Given the description of an element on the screen output the (x, y) to click on. 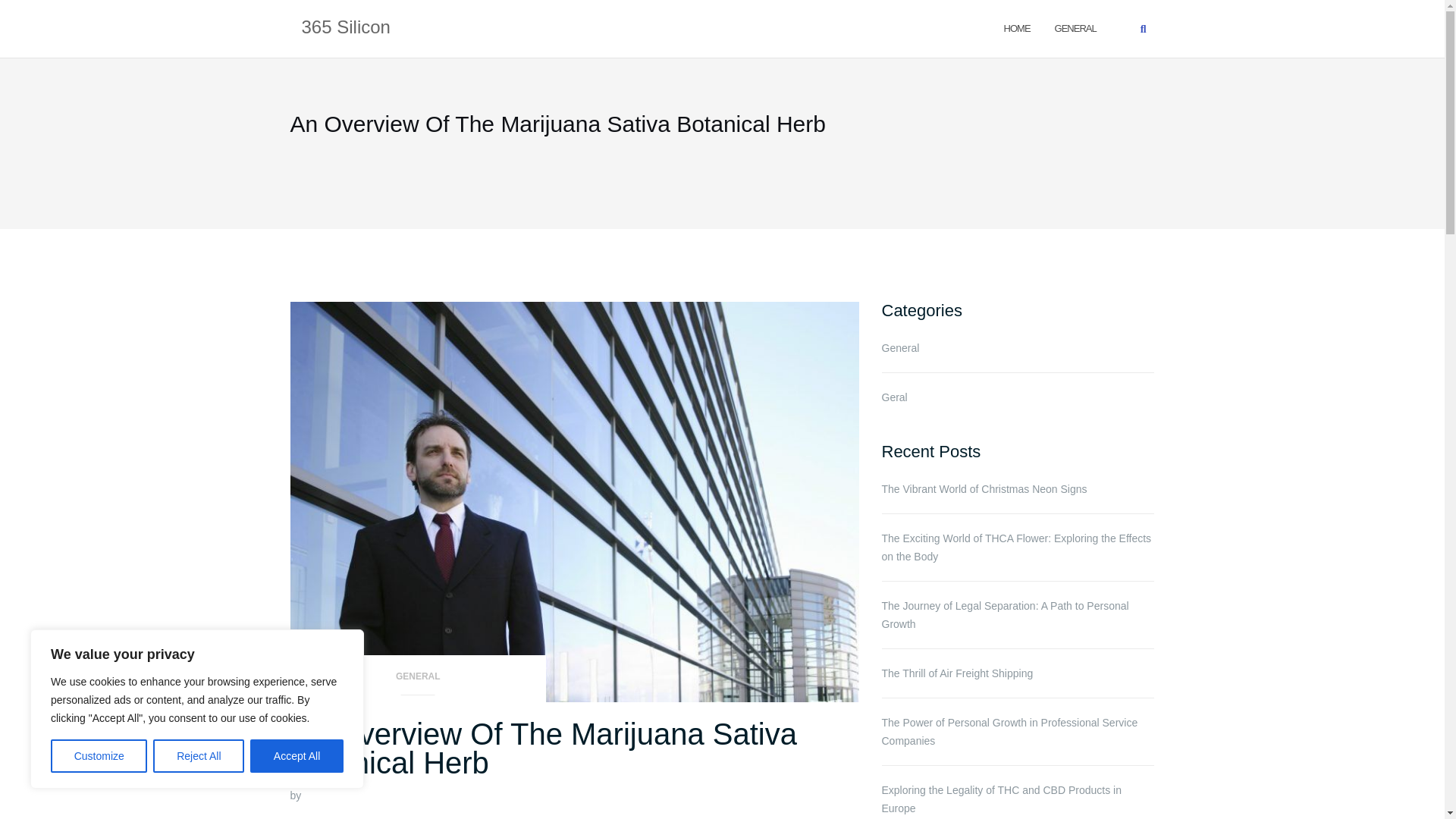
GENERAL (1075, 28)
General (1075, 28)
Accept All (296, 756)
GENERAL (417, 681)
Customize (98, 756)
An Overview Of The Marijuana Sativa Botanical Herb (542, 748)
Reject All (198, 756)
365 Silicon (345, 28)
